Given the description of an element on the screen output the (x, y) to click on. 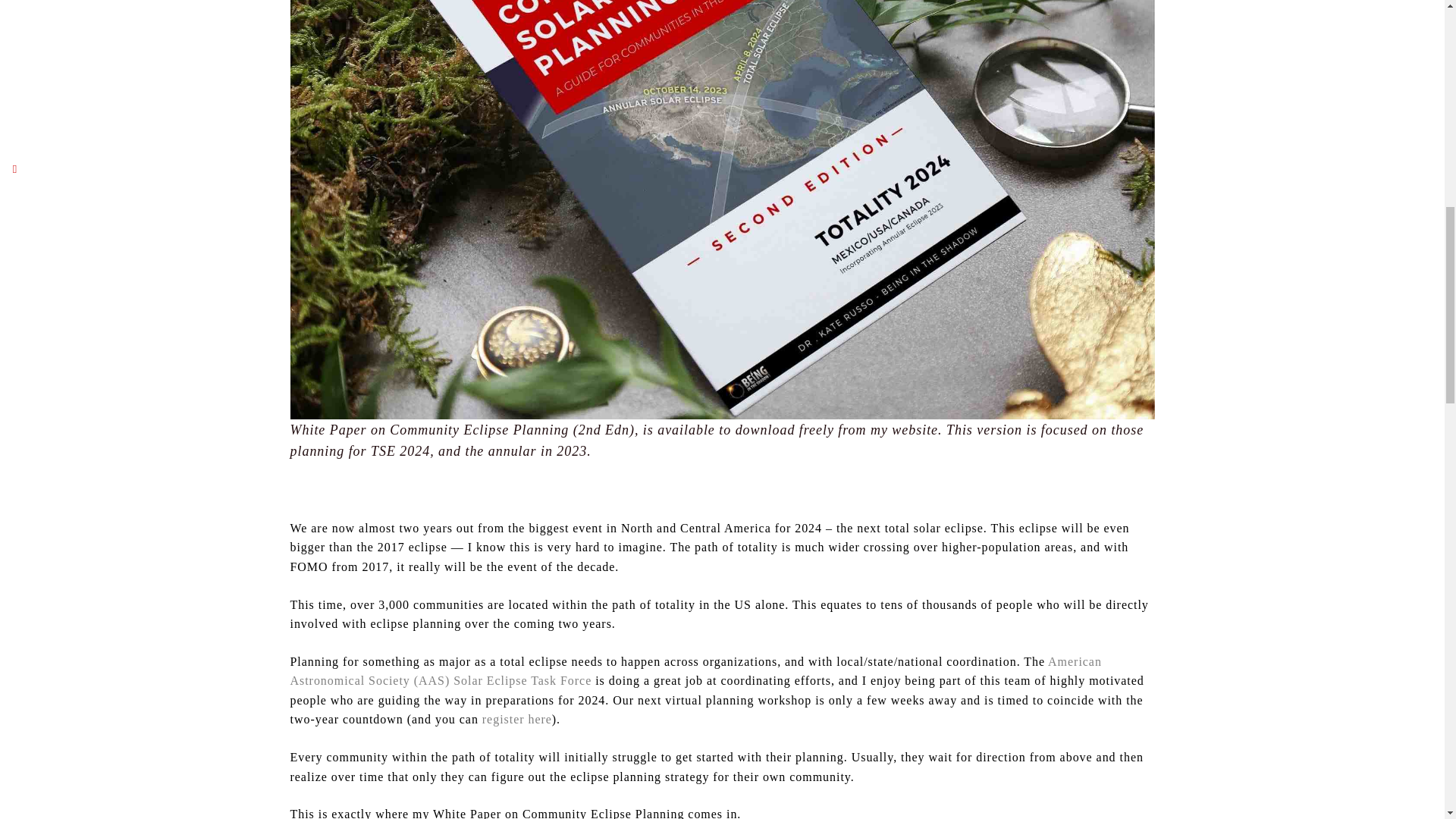
Go to top (1406, 22)
